Given the description of an element on the screen output the (x, y) to click on. 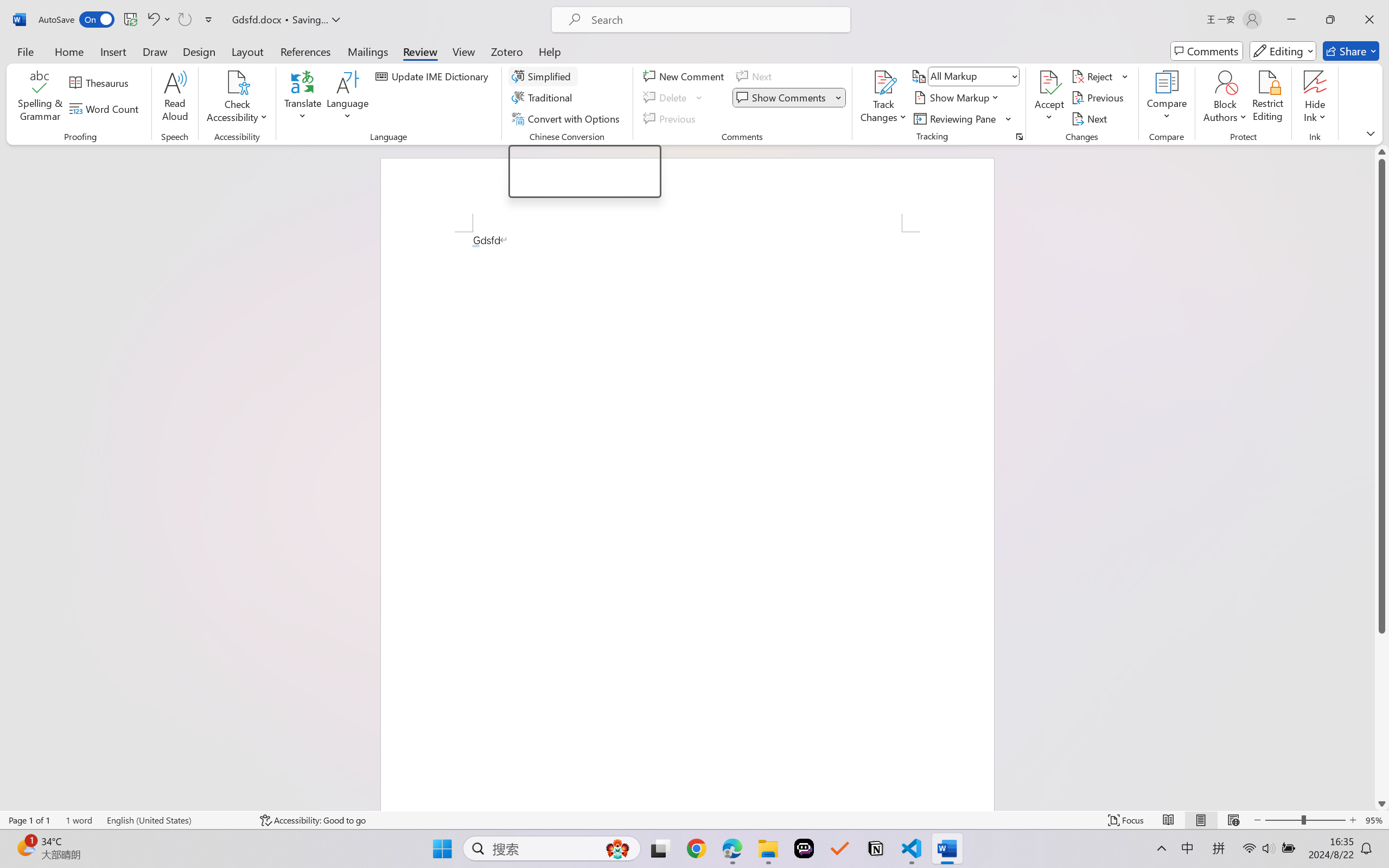
Language (347, 97)
Simplified (542, 75)
Microsoft search (715, 19)
Spelling & Grammar (39, 97)
Check Accessibility (237, 97)
Undo AutoCorrect (152, 19)
